Given the description of an element on the screen output the (x, y) to click on. 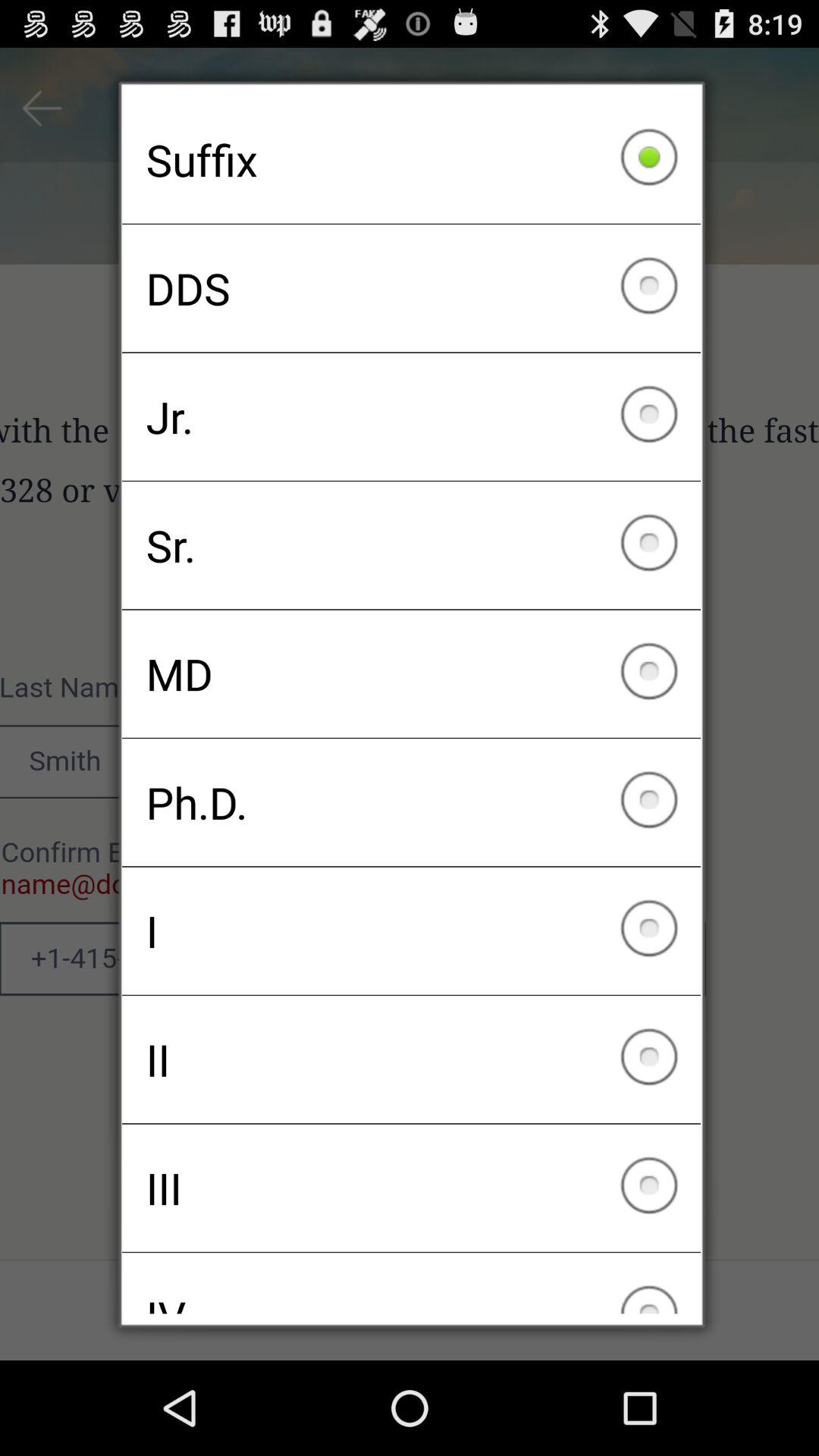
turn off checkbox above the jr. item (411, 288)
